Given the description of an element on the screen output the (x, y) to click on. 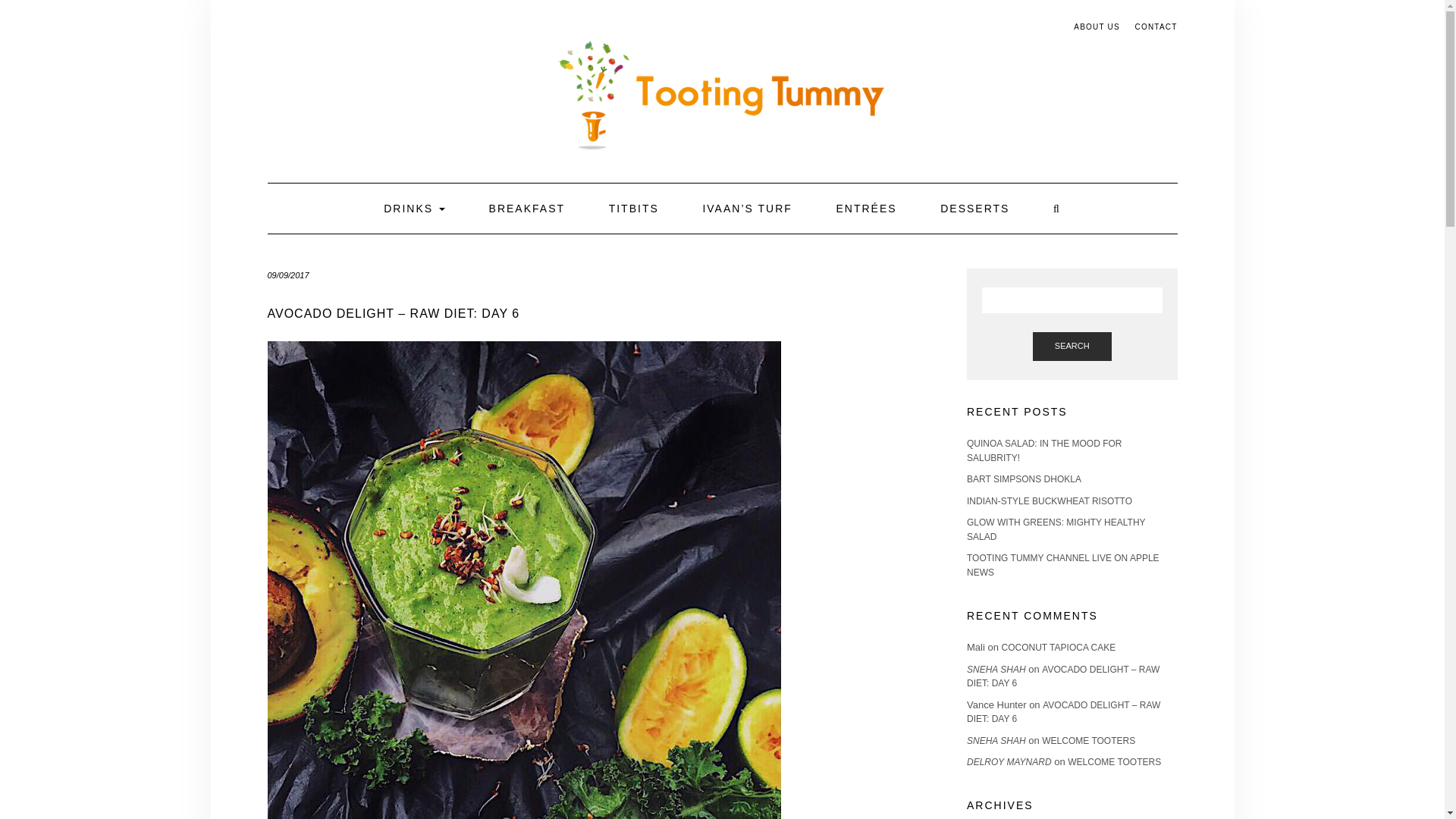
TOOTING TUMMY CHANNEL LIVE ON APPLE NEWS (1062, 565)
COCONUT TAPIOCA CAKE (1058, 647)
ABOUT US (1096, 26)
SEARCH (1072, 346)
GLOW WITH GREENS: MIGHTY HEALTHY SALAD (1055, 529)
INDIAN-STYLE BUCKWHEAT RISOTTO (1049, 501)
DRINKS (413, 208)
CONTACT (1155, 26)
QUINOA SALAD: IN THE MOOD FOR SALUBRITY! (1043, 450)
DESSERTS (974, 208)
